Given the description of an element on the screen output the (x, y) to click on. 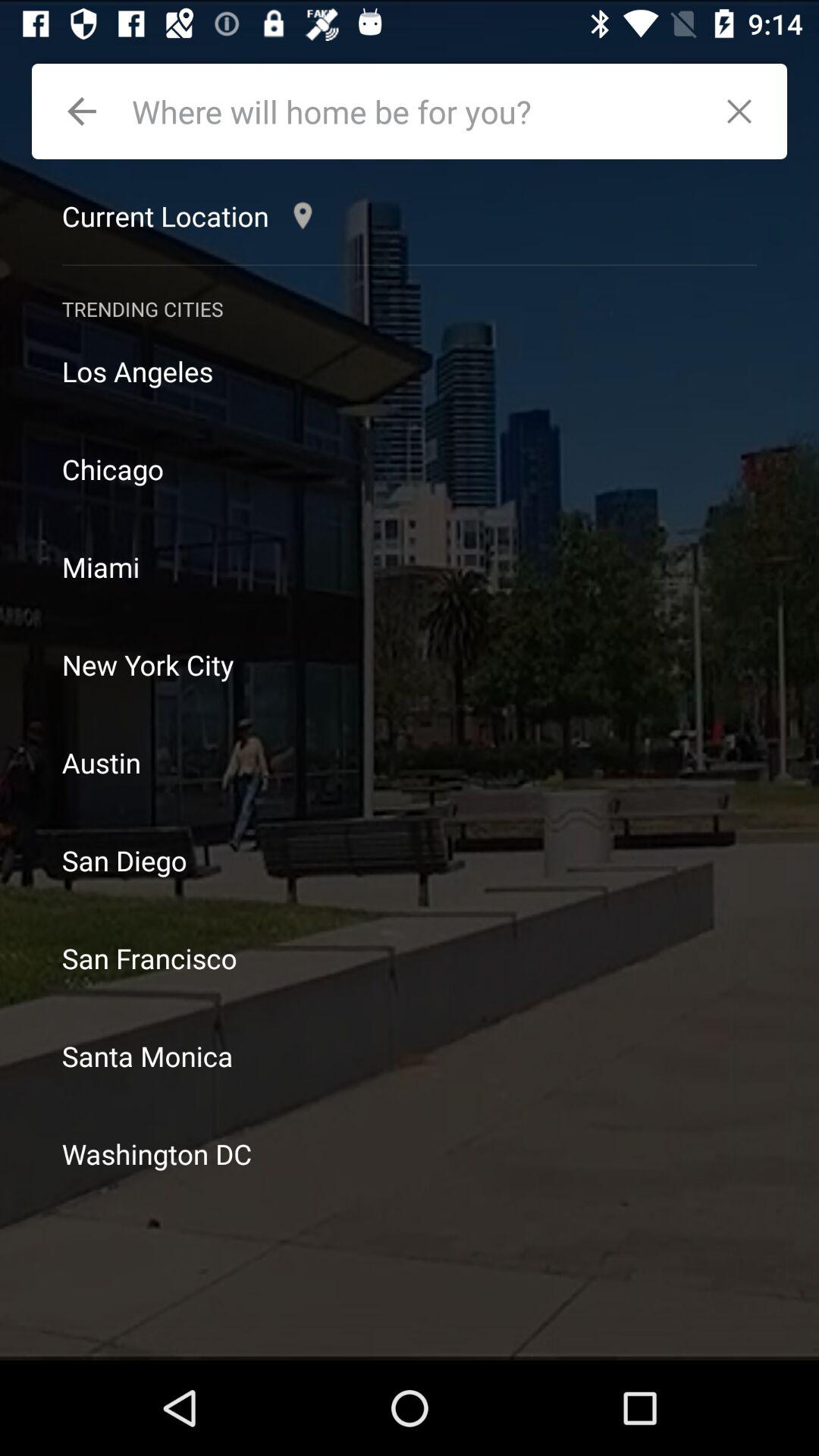
turn off icon above the san francisco item (409, 860)
